Given the description of an element on the screen output the (x, y) to click on. 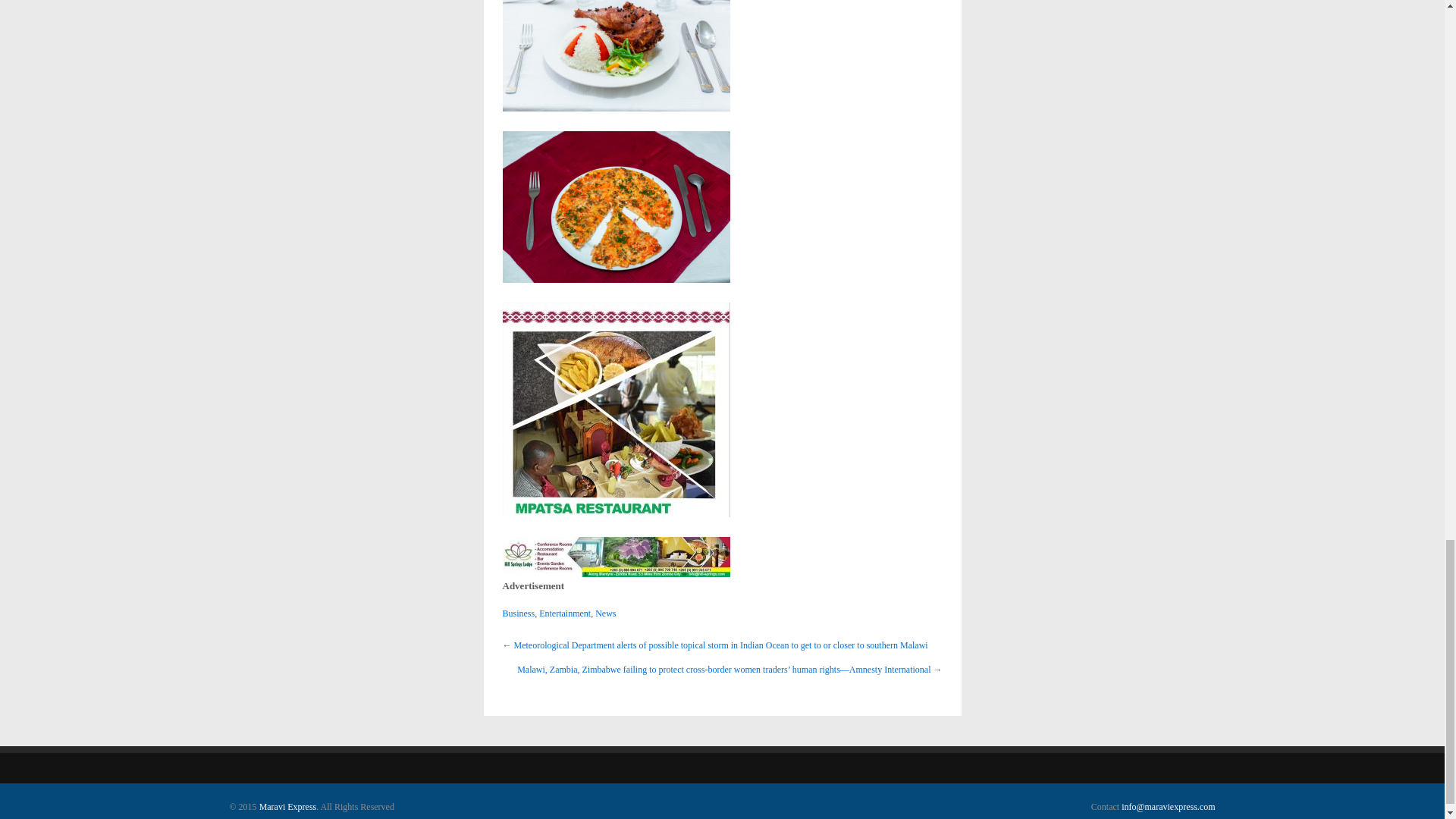
View all posts in News (605, 613)
Business (518, 613)
News (605, 613)
Entertainment (564, 613)
Maravi Express (288, 806)
View all posts in Business (518, 613)
View all posts in Entertainment (564, 613)
